Given the description of an element on the screen output the (x, y) to click on. 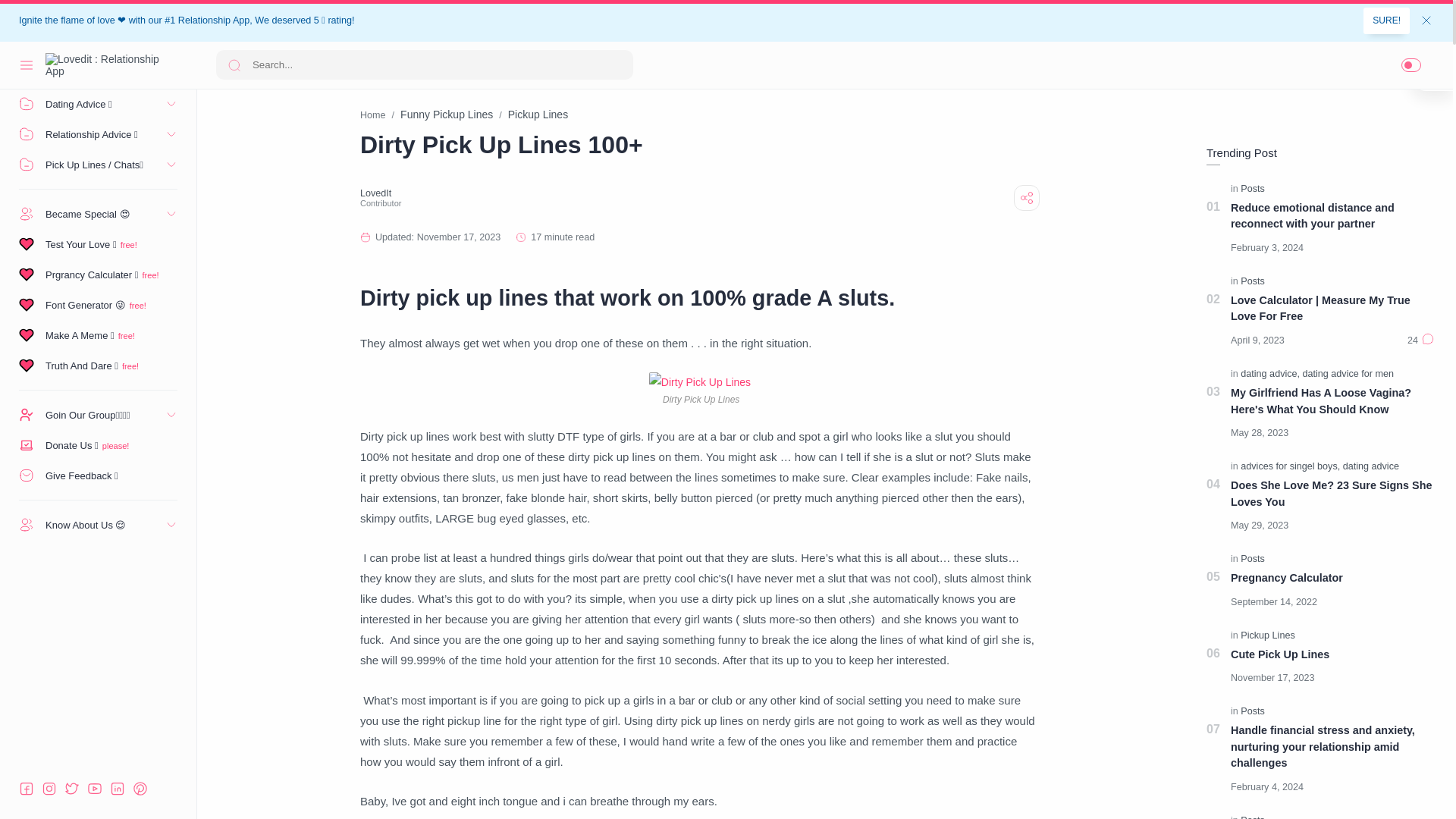
Dirty Pick Up Lines (700, 382)
Last updated: May 28, 2023 (1262, 432)
Last updated: April 9, 2023 (1261, 340)
Published: September 14, 2022 (1277, 601)
SURE! (1385, 20)
Published: February 4, 2024 (1270, 786)
Last updated: November 17, 2023 (445, 237)
Home (98, 73)
Published: February 3, 2024 (1270, 247)
Lovedit : Relationship App  (101, 64)
